Given the description of an element on the screen output the (x, y) to click on. 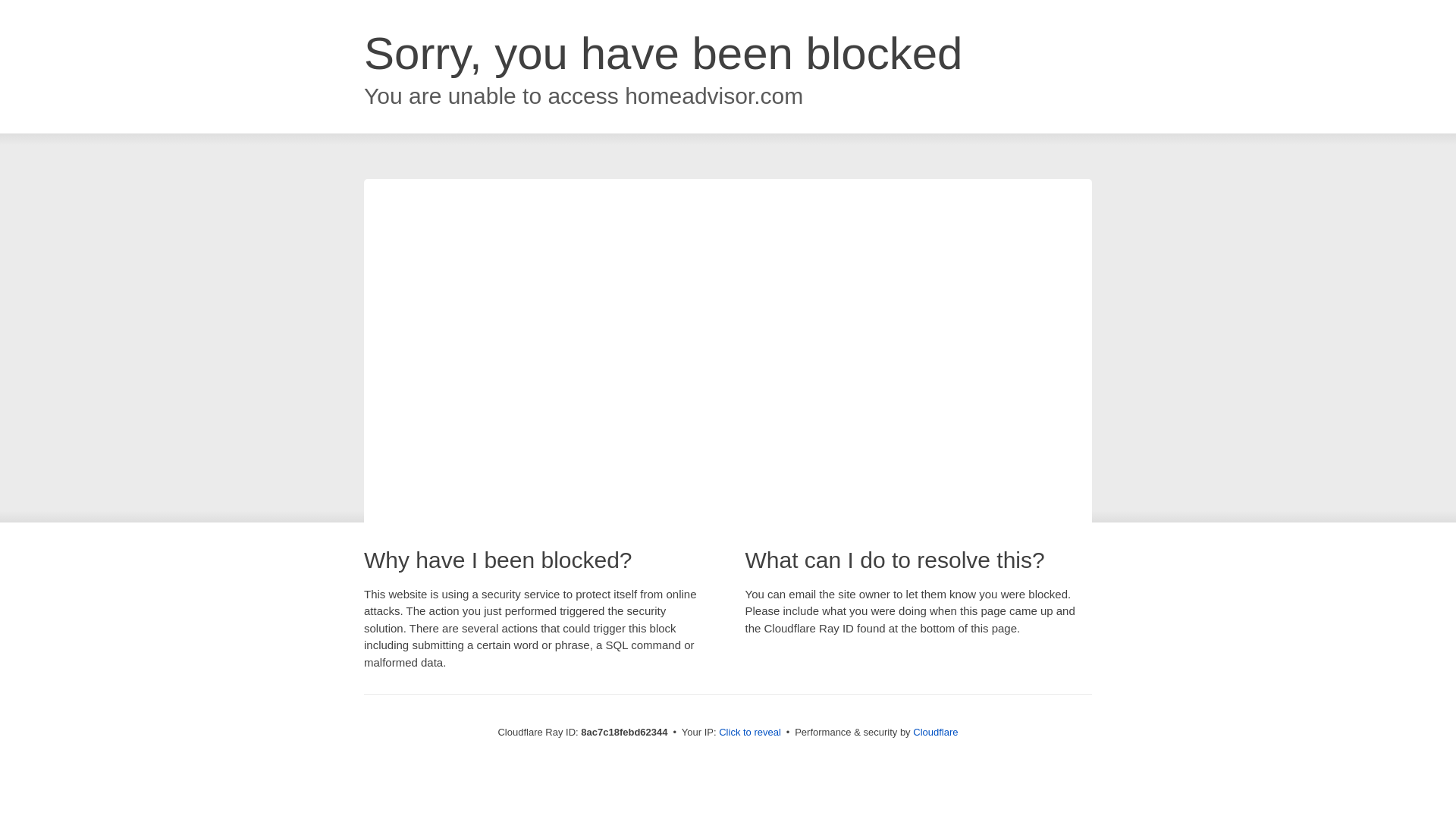
Cloudflare (935, 731)
Click to reveal (749, 732)
